Given the description of an element on the screen output the (x, y) to click on. 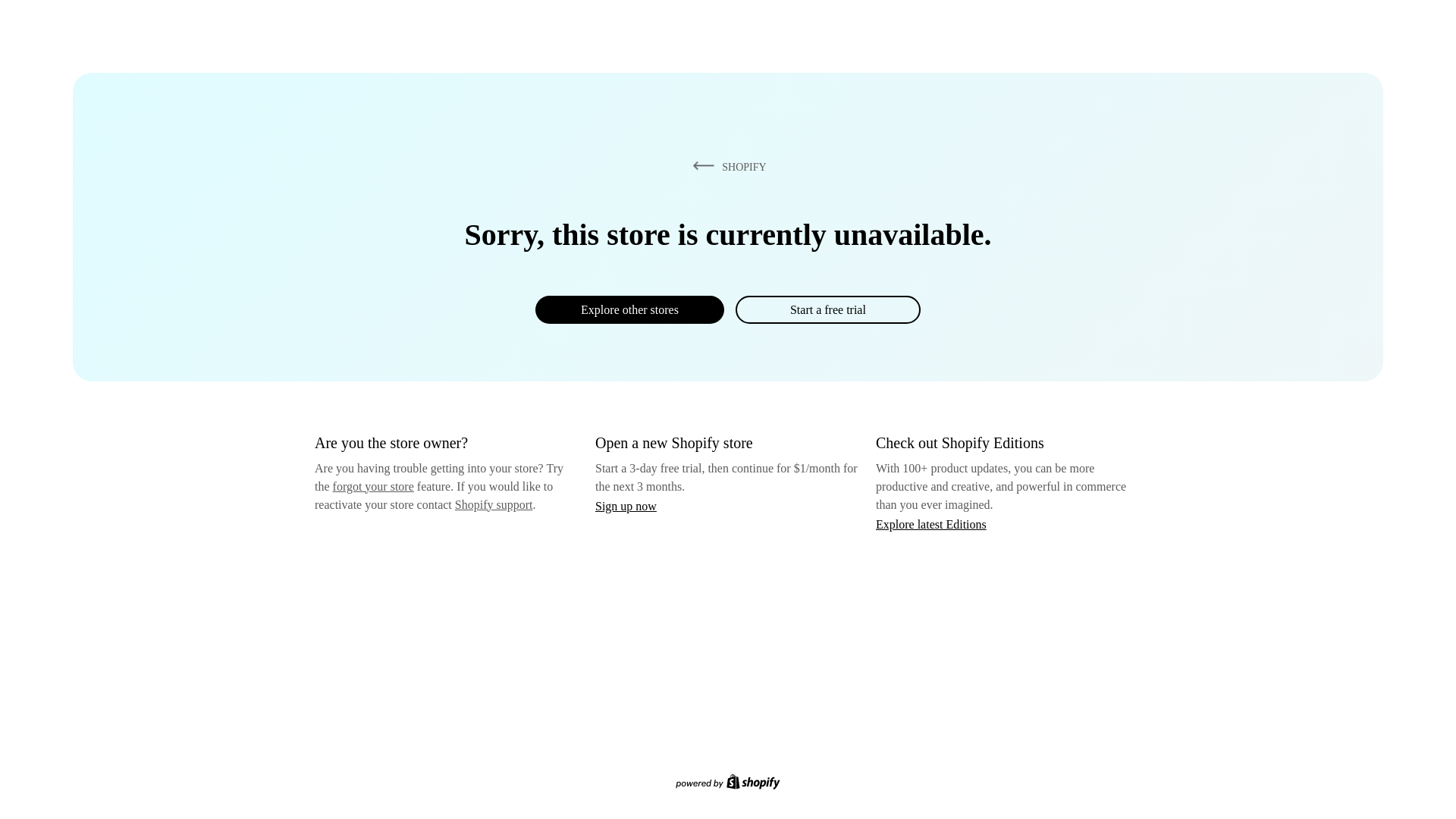
forgot your store (373, 486)
Shopify support (493, 504)
Sign up now (625, 505)
Explore other stores (629, 309)
Explore latest Editions (931, 523)
Start a free trial (827, 309)
SHOPIFY (726, 166)
